Given the description of an element on the screen output the (x, y) to click on. 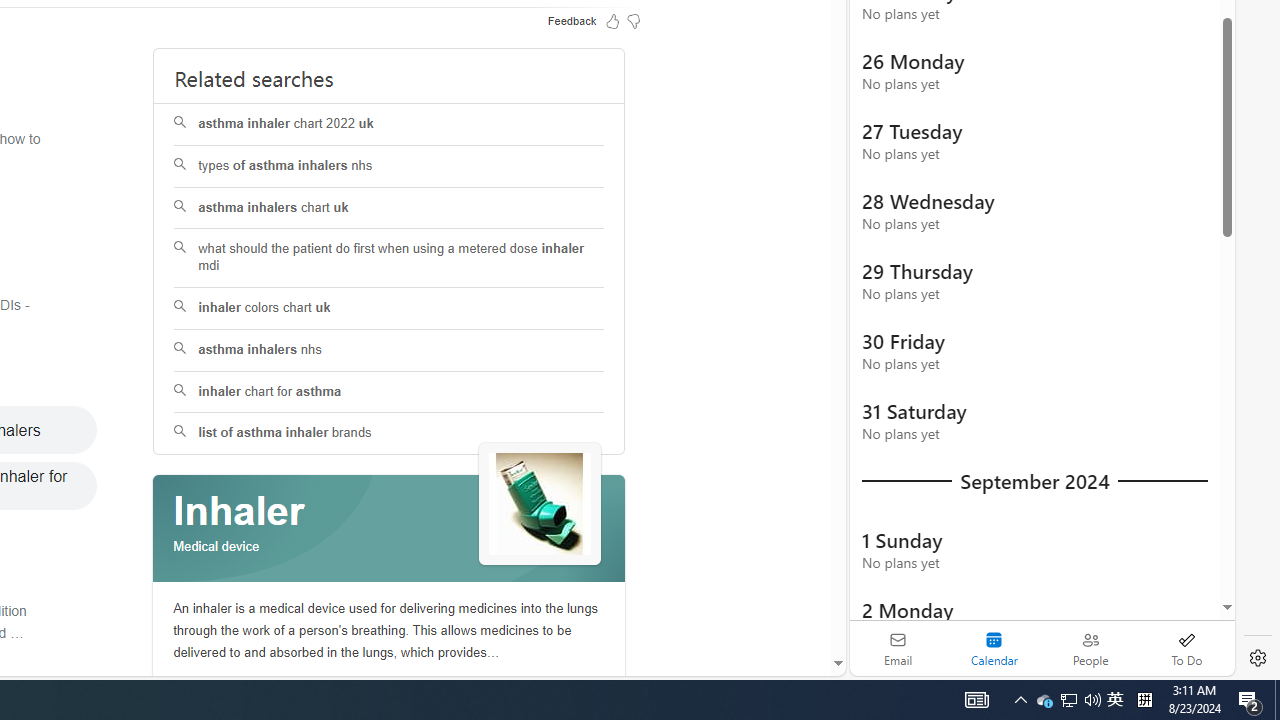
asthma inhalers nhs (389, 350)
list of asthma inhaler brands (389, 434)
See more images of Inhaler (539, 505)
